Given the description of an element on the screen output the (x, y) to click on. 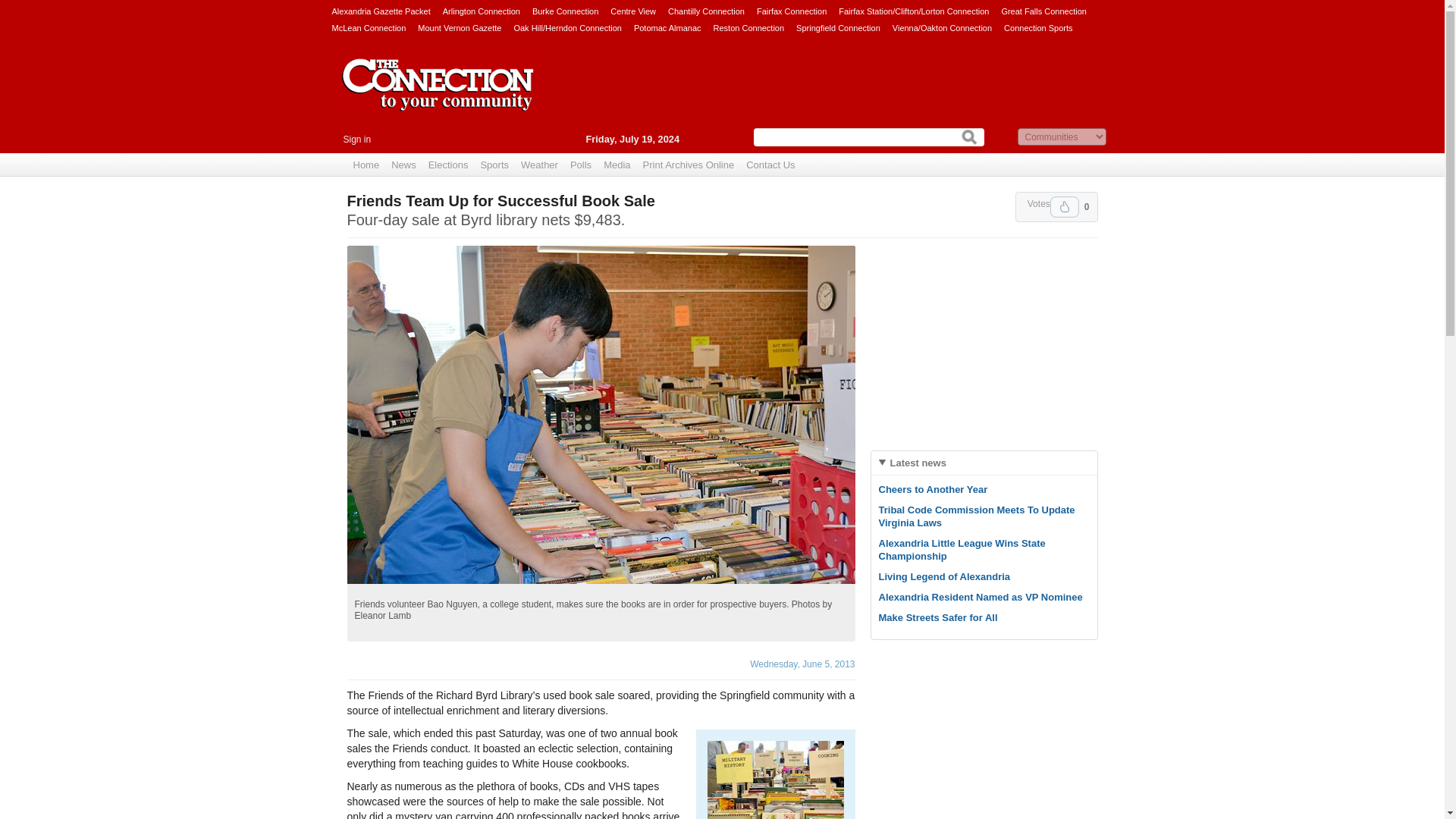
Chantilly Connection (706, 11)
News (403, 164)
McLean Connection (368, 27)
The Connection (437, 96)
Potomac Almanac (667, 27)
Centre View (633, 11)
Springfield Connection (838, 27)
Connection Sports (1038, 27)
Sign in (356, 139)
Burke Connection (565, 11)
Arlington Connection (480, 11)
Alexandria Gazette Packet (380, 11)
Home (366, 164)
Reston Connection (748, 27)
Great Falls Connection (1043, 11)
